Given the description of an element on the screen output the (x, y) to click on. 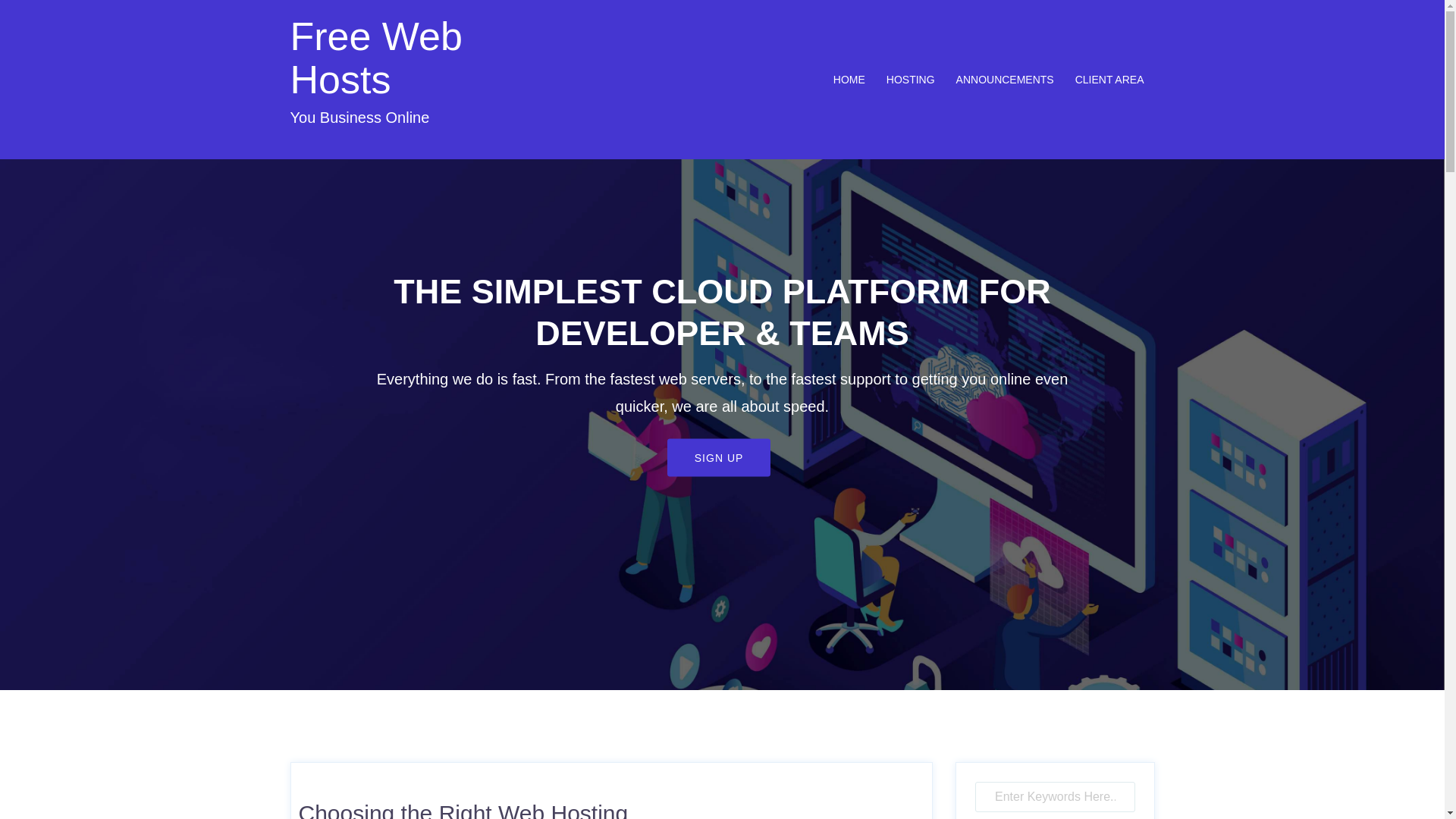
HOME Element type: text (849, 79)
Free Web Hosts Element type: text (375, 57)
Search Element type: text (50, 18)
SIGN UP Element type: text (719, 457)
ANNOUNCEMENTS Element type: text (1005, 79)
CLIENT AREA Element type: text (1109, 79)
HOSTING Element type: text (910, 79)
